Given the description of an element on the screen output the (x, y) to click on. 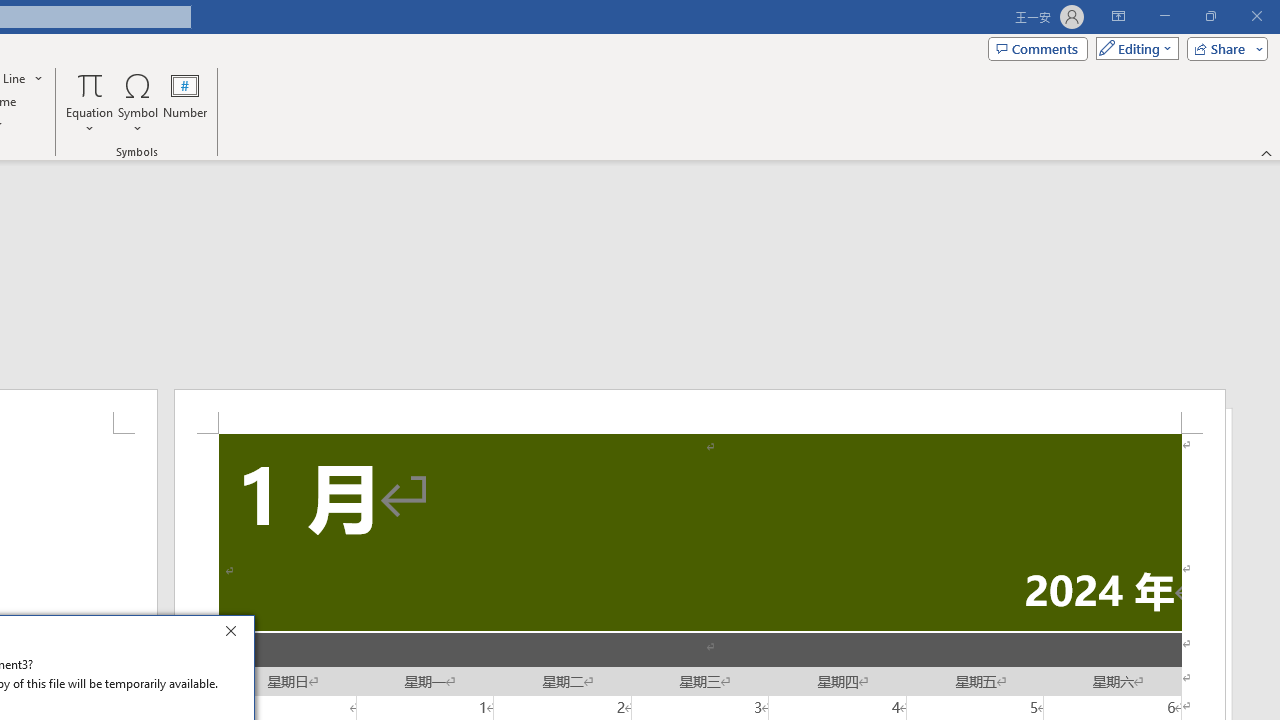
Equation (90, 84)
